Given the description of an element on the screen output the (x, y) to click on. 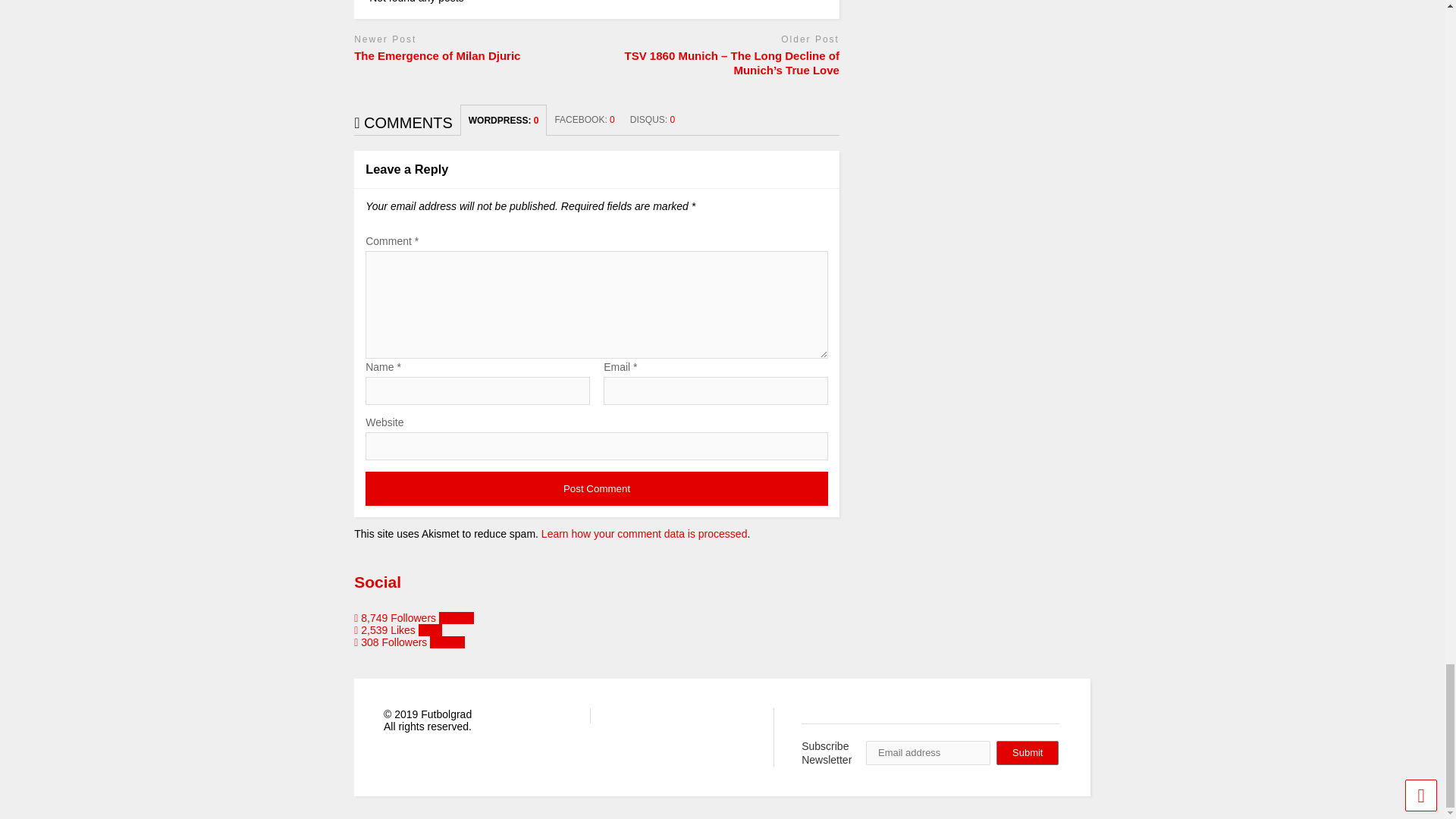
Submit (1026, 752)
Post Comment (596, 488)
